Given the description of an element on the screen output the (x, y) to click on. 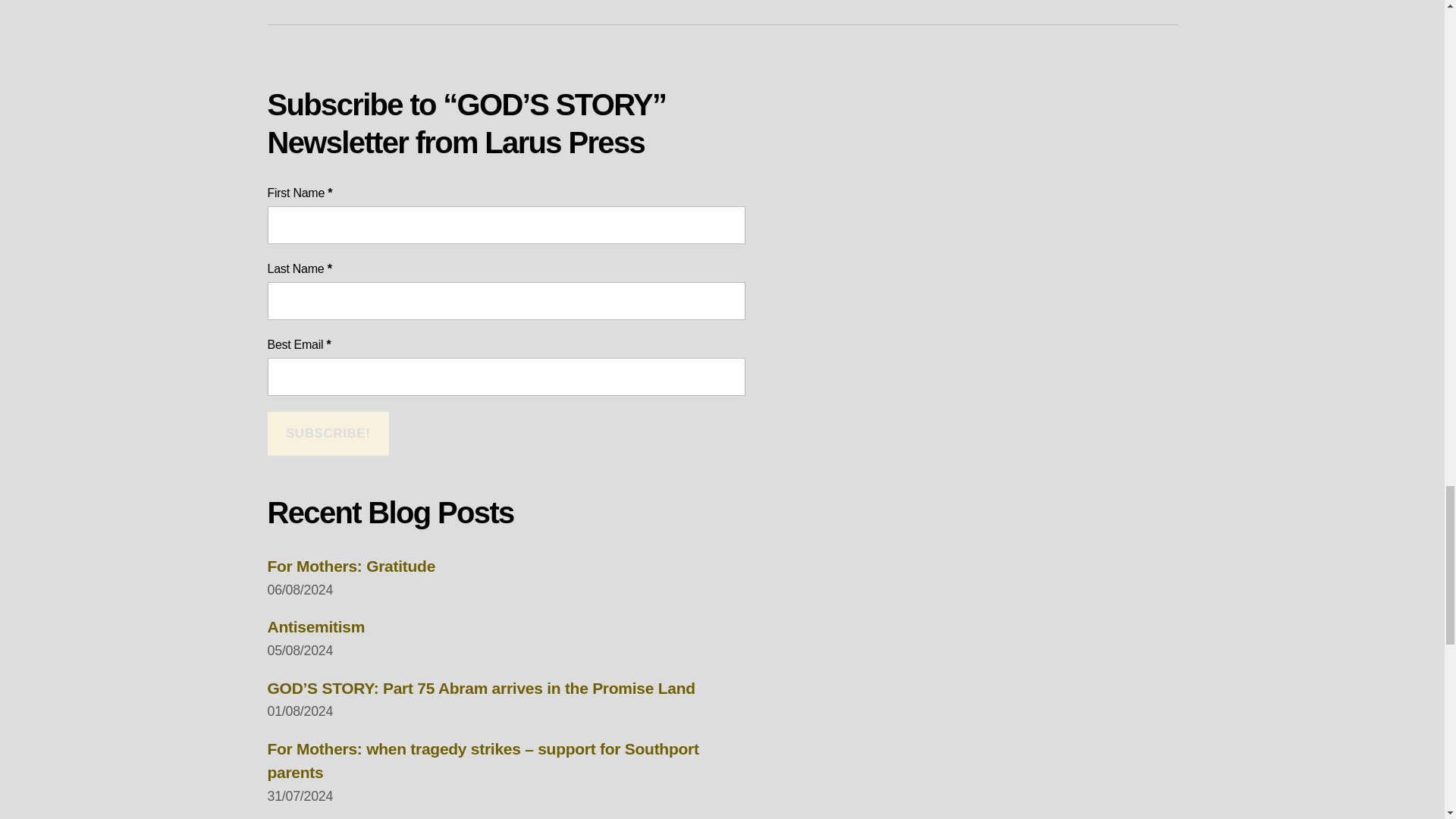
Last Name (505, 300)
Best Email (505, 376)
First Name (505, 225)
Subscribe! (327, 433)
